Given the description of an element on the screen output the (x, y) to click on. 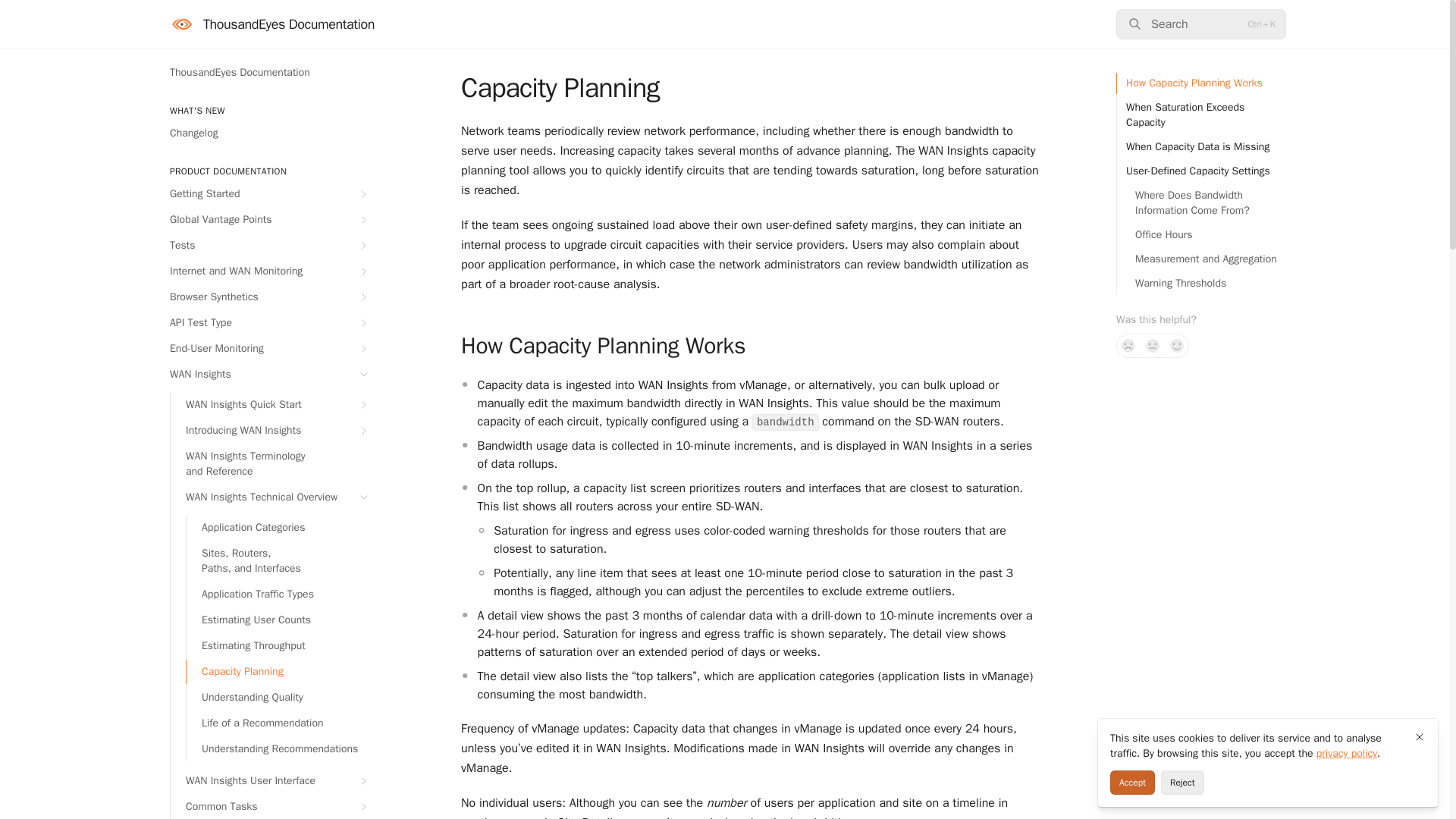
Getting Started (264, 193)
Yes, it was! (1176, 345)
No (1128, 345)
Close (1419, 737)
Changelog (264, 133)
ThousandEyes Documentation (264, 72)
Not sure (1152, 345)
Global Vantage Points (264, 219)
ThousandEyes Documentation (272, 24)
